Given the description of an element on the screen output the (x, y) to click on. 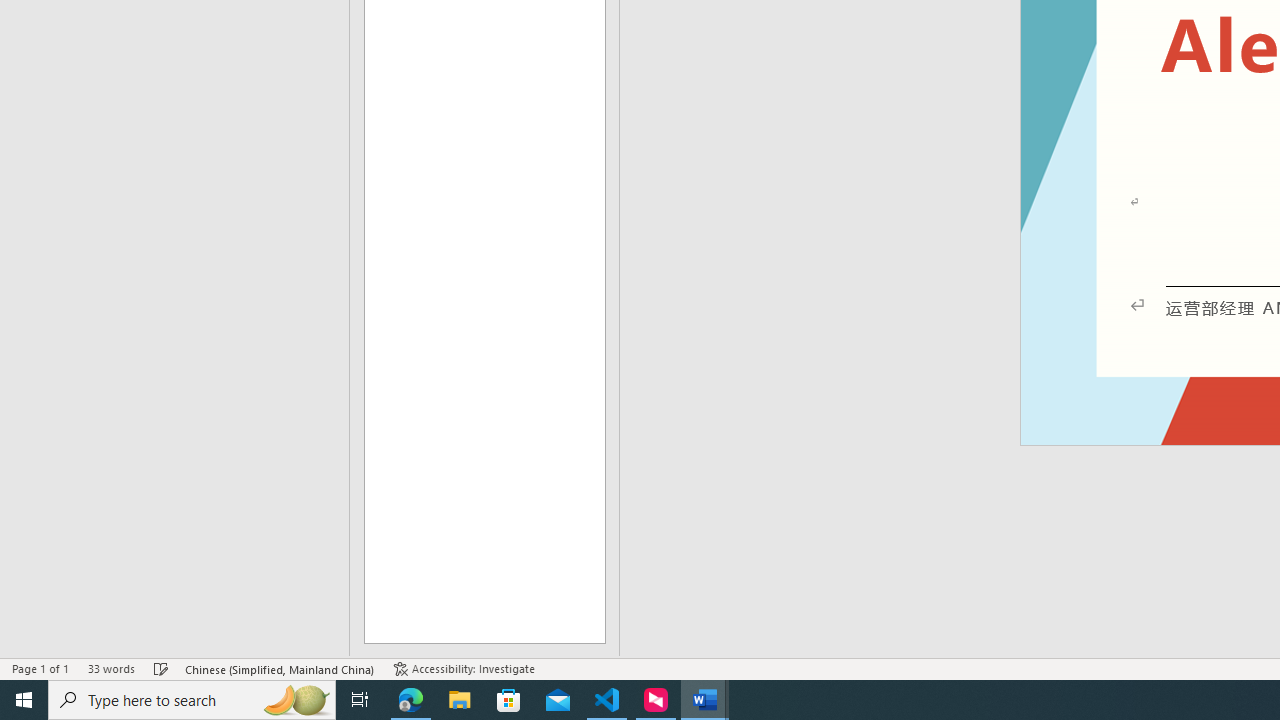
Accessibility Checker Accessibility: Investigate (464, 668)
Spelling and Grammar Check Checking (161, 668)
Language Chinese (Simplified, Mainland China) (279, 668)
Page Number Page 1 of 1 (39, 668)
